Given the description of an element on the screen output the (x, y) to click on. 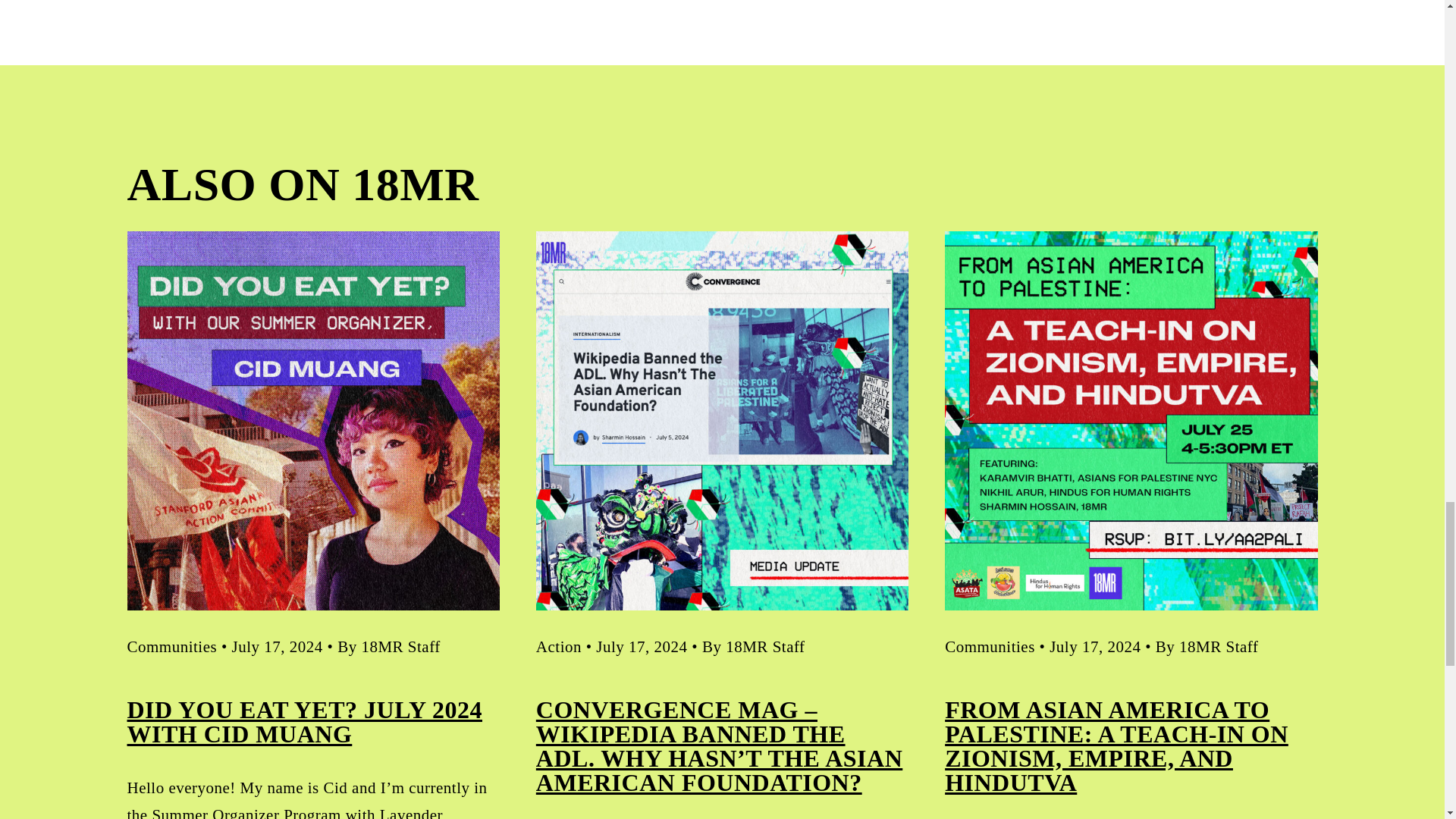
DID YOU EAT YET? JULY 2024 WITH CID MUANG (304, 721)
